Given the description of an element on the screen output the (x, y) to click on. 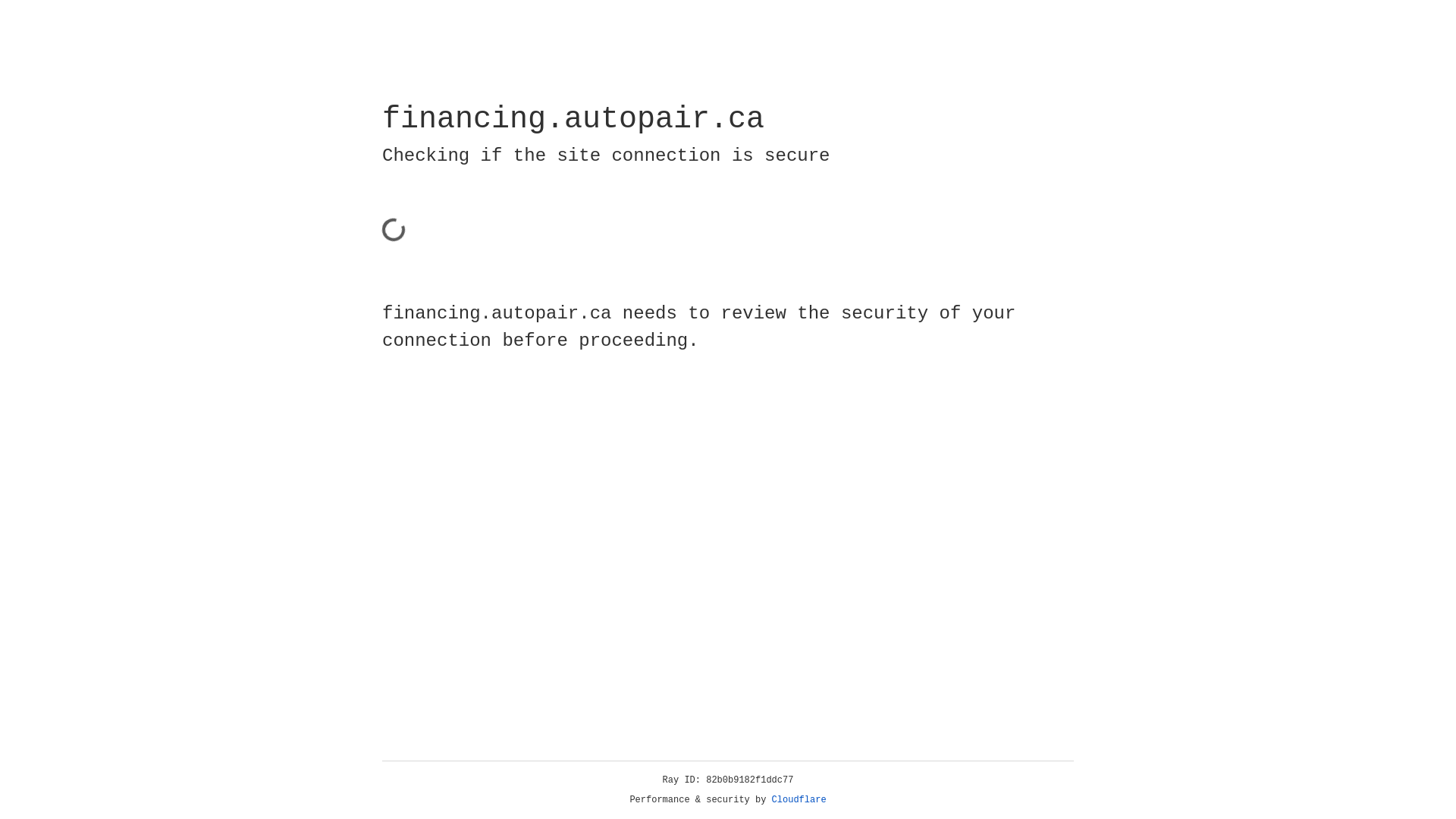
Cloudflare Element type: text (798, 799)
